Given the description of an element on the screen output the (x, y) to click on. 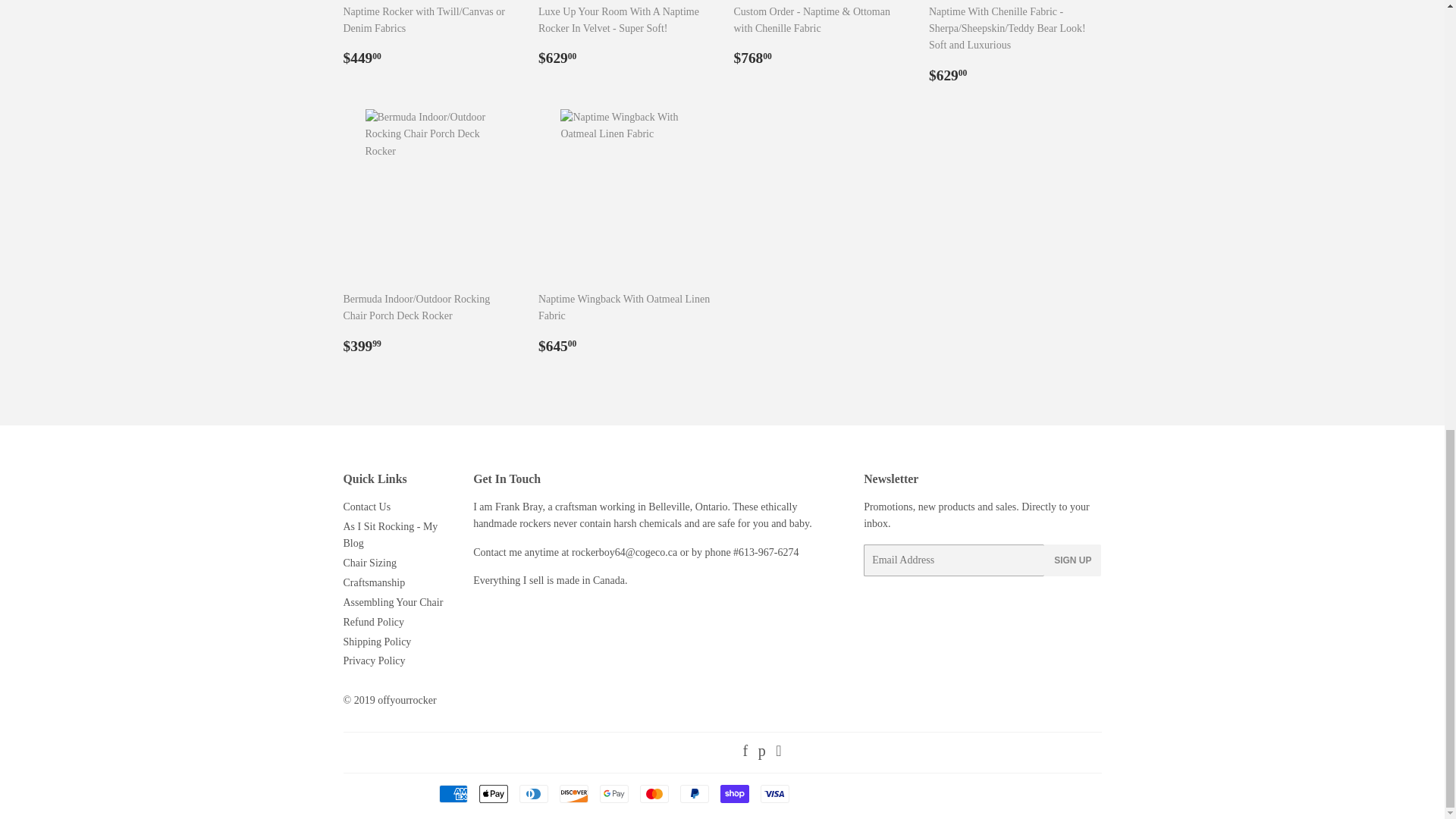
Shop Pay (734, 793)
Diners Club (532, 793)
PayPal (693, 793)
American Express (452, 793)
Google Pay (612, 793)
Visa (774, 793)
Contact Frank at Off Your Rocker (575, 552)
Mastercard (654, 793)
Apple Pay (493, 793)
Discover (573, 793)
